Given the description of an element on the screen output the (x, y) to click on. 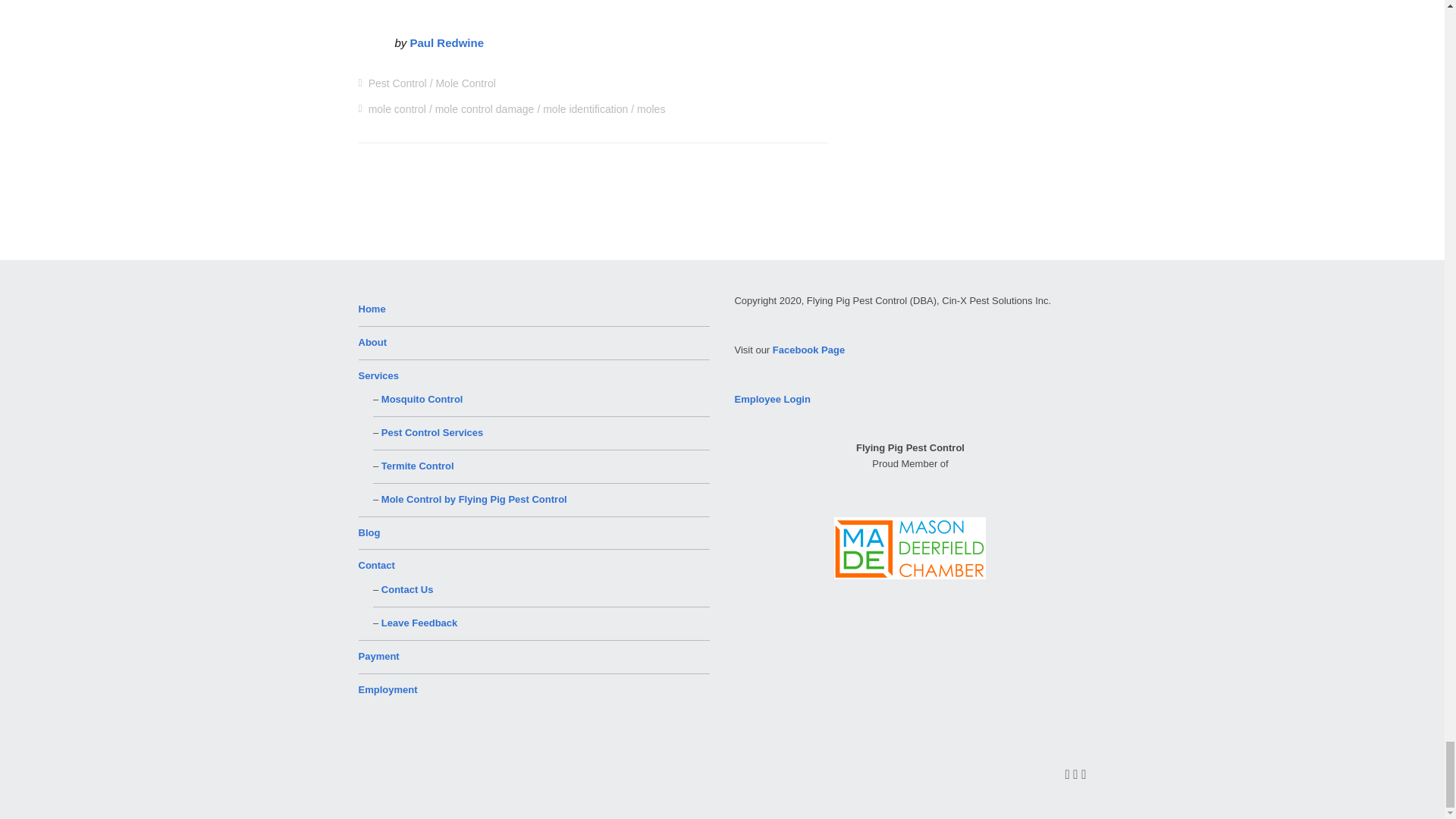
Mason Deerfield Chamber (909, 548)
